Given the description of an element on the screen output the (x, y) to click on. 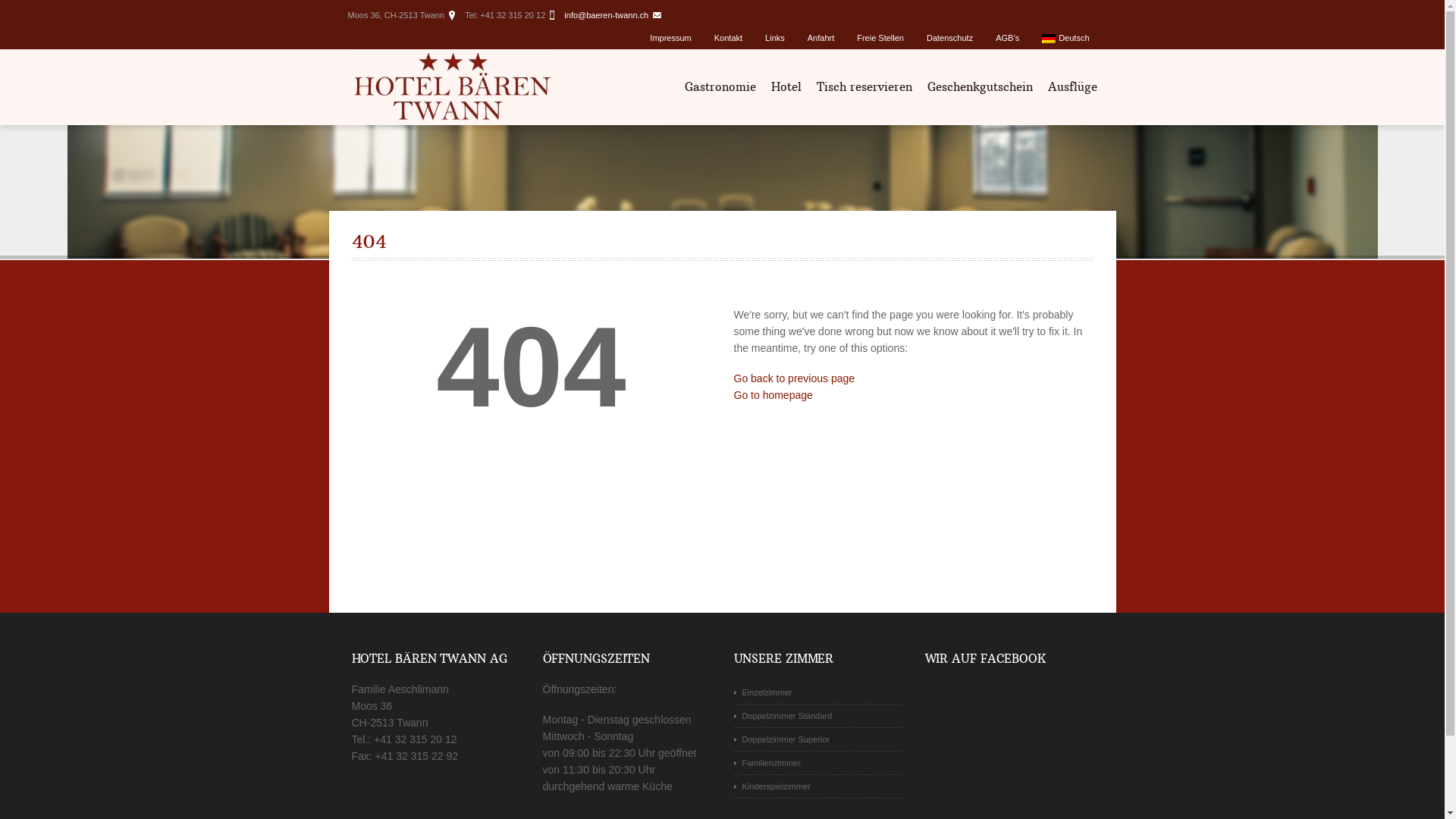
Familienzimmer Element type: text (818, 763)
Doppelzimmer Standard Element type: text (818, 716)
Links Element type: text (774, 37)
Hotel Element type: text (785, 87)
Kinderspielzimmer Element type: text (818, 786)
Deutsch Element type: text (1065, 37)
Gastronomie Element type: text (719, 87)
Impressum Element type: text (670, 37)
Go to homepage Element type: text (773, 395)
Anfahrt Element type: text (820, 37)
Datenschutz Element type: text (949, 37)
info@baeren-twann.ch Element type: text (606, 14)
Go back to previous page Element type: text (794, 378)
Doppelzimmer Superior Element type: text (818, 739)
Freie Stellen Element type: text (880, 37)
Kontakt Element type: text (727, 37)
Tisch reservieren Element type: text (863, 87)
Einzelzimmer Element type: text (818, 692)
Geschenkgutschein Element type: text (979, 87)
